Given the description of an element on the screen output the (x, y) to click on. 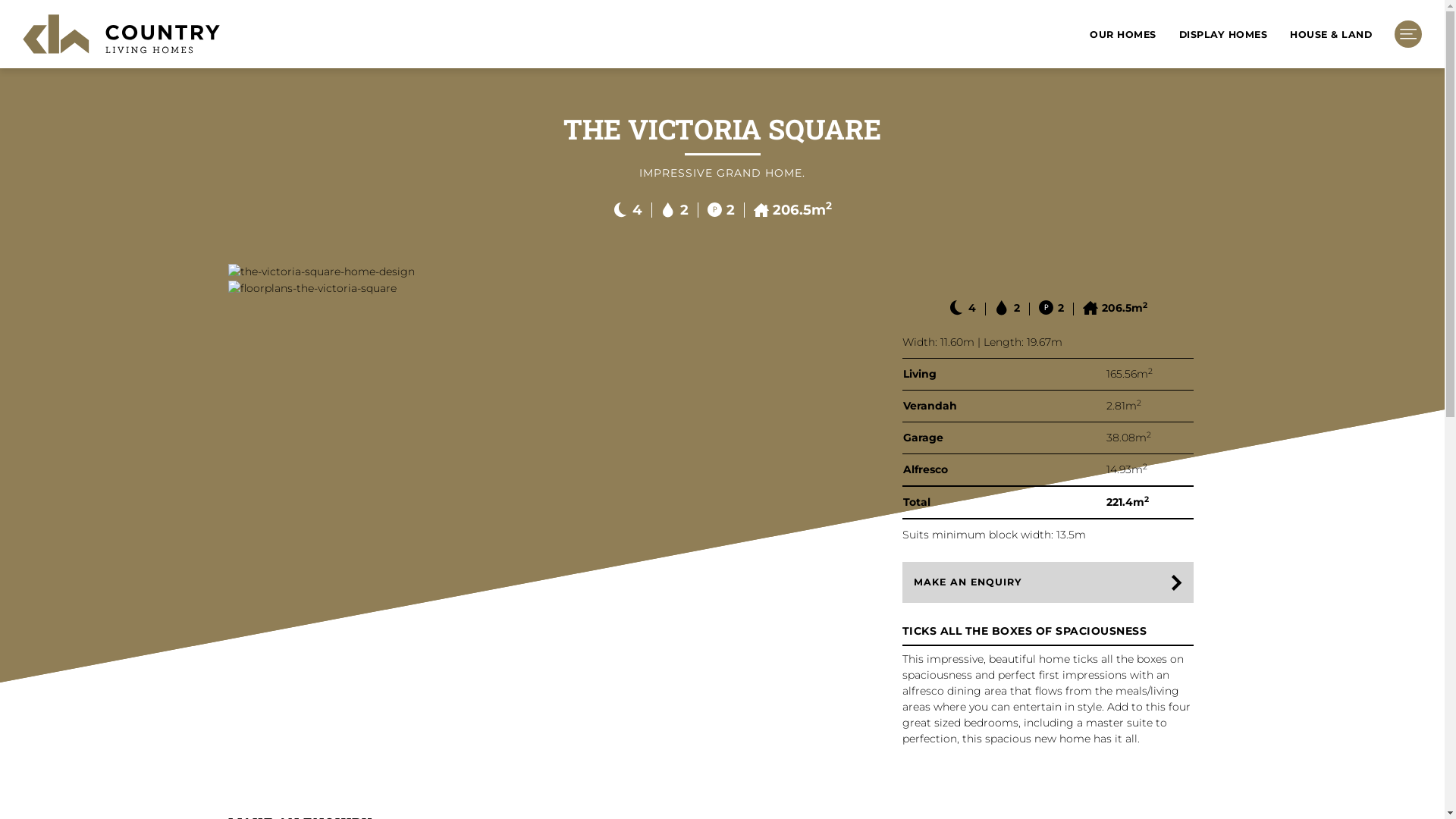
DISPLAY HOMES Element type: text (1222, 34)
HOUSE & LAND Element type: text (1330, 34)
Menu Element type: text (1407, 33)
OUR HOMES Element type: text (1122, 34)
MAKE AN ENQUIRY Element type: text (1048, 581)
